Given the description of an element on the screen output the (x, y) to click on. 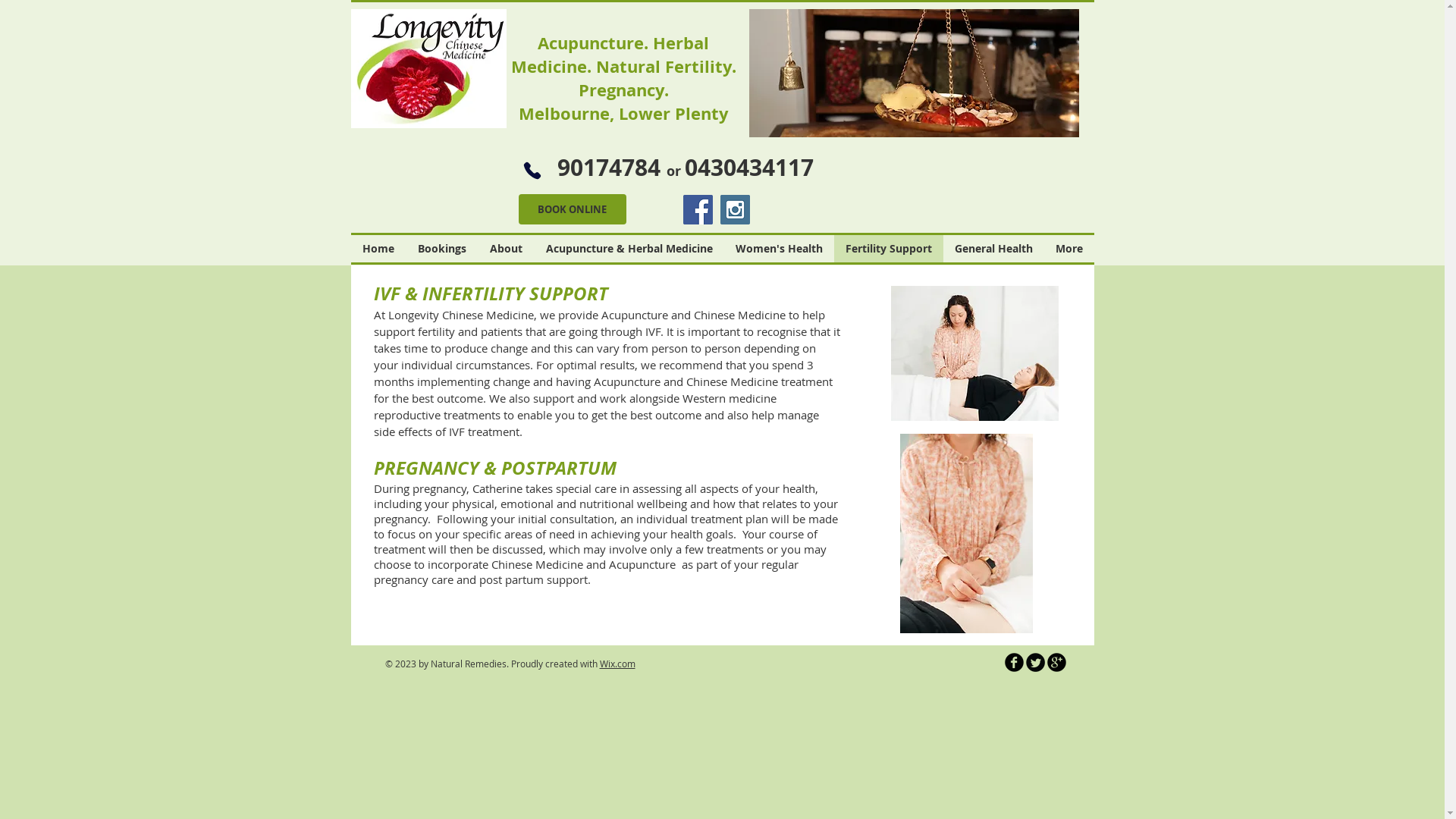
Acupuncture & Herbal Medicine Element type: text (628, 248)
Home Element type: text (377, 248)
BOOK ONLINE Element type: text (572, 209)
General Health Element type: text (993, 248)
Women's Health Element type: text (778, 248)
Fertility Support Element type: text (888, 248)
LONGEVITY LOGO.jpg Element type: hover (427, 68)
Wix.com Element type: text (616, 663)
Bookings Element type: text (442, 248)
About Element type: text (505, 248)
